Given the description of an element on the screen output the (x, y) to click on. 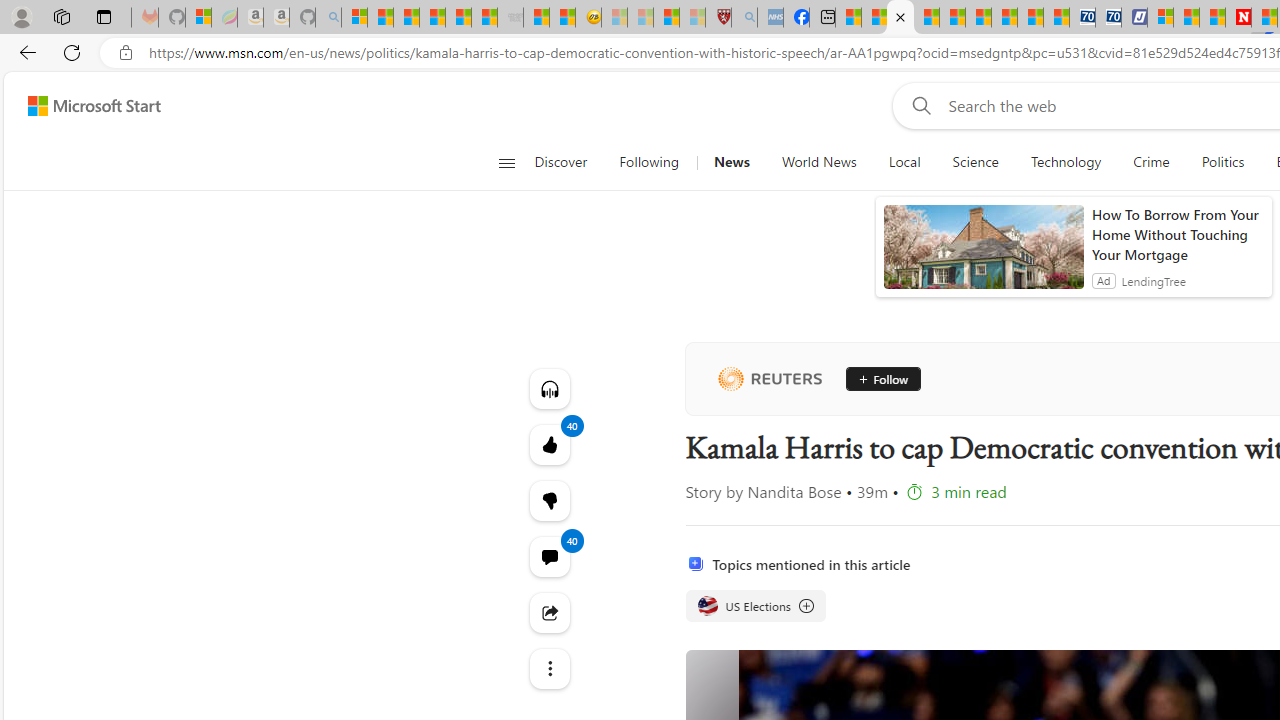
40 (548, 500)
12 Popular Science Lies that Must be Corrected - Sleeping (692, 17)
Follow (876, 378)
